Given the description of an element on the screen output the (x, y) to click on. 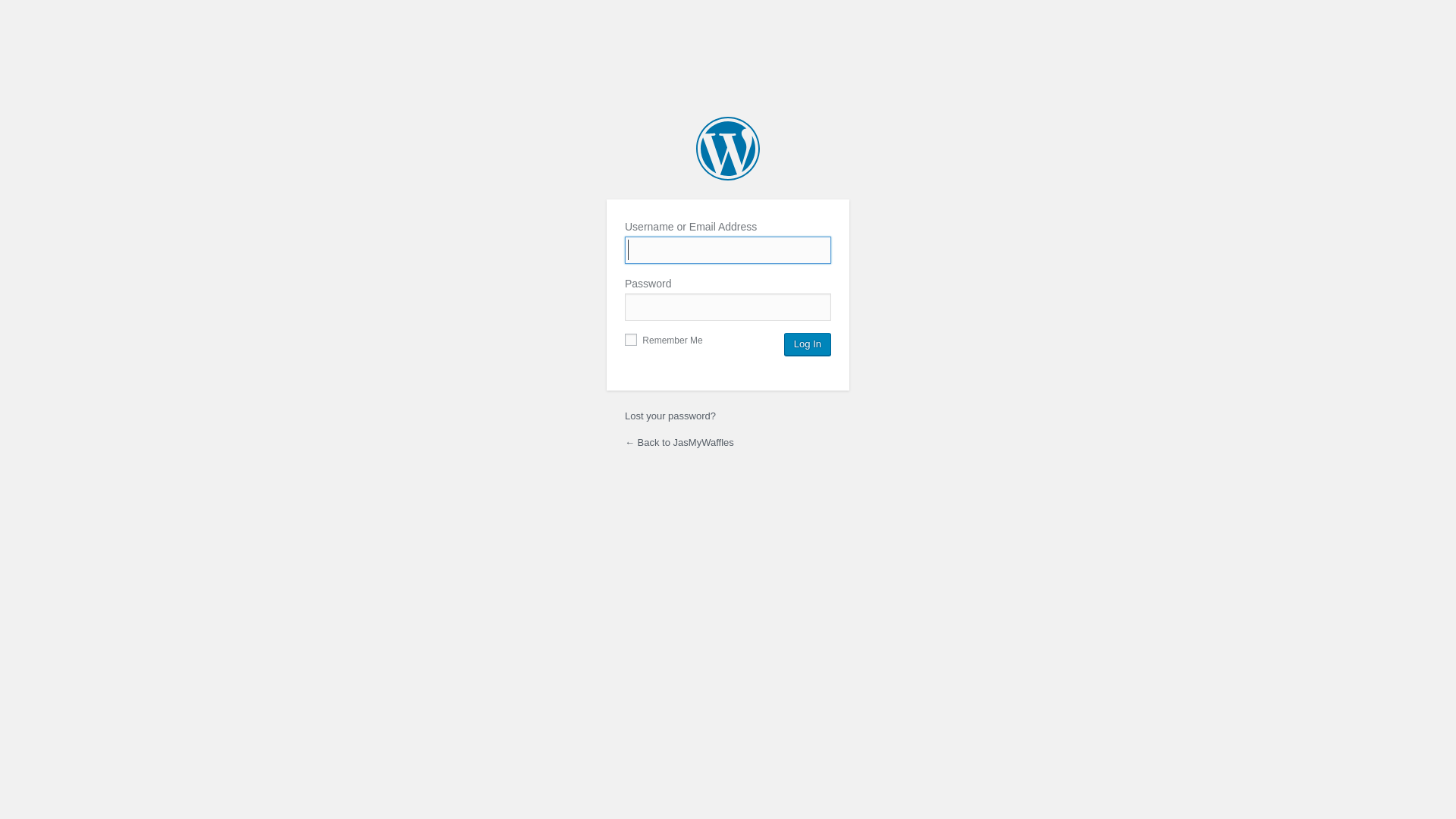
Log In Element type: text (807, 343)
Lost your password? Element type: text (669, 415)
Powered by WordPress Element type: text (727, 148)
